Given the description of an element on the screen output the (x, y) to click on. 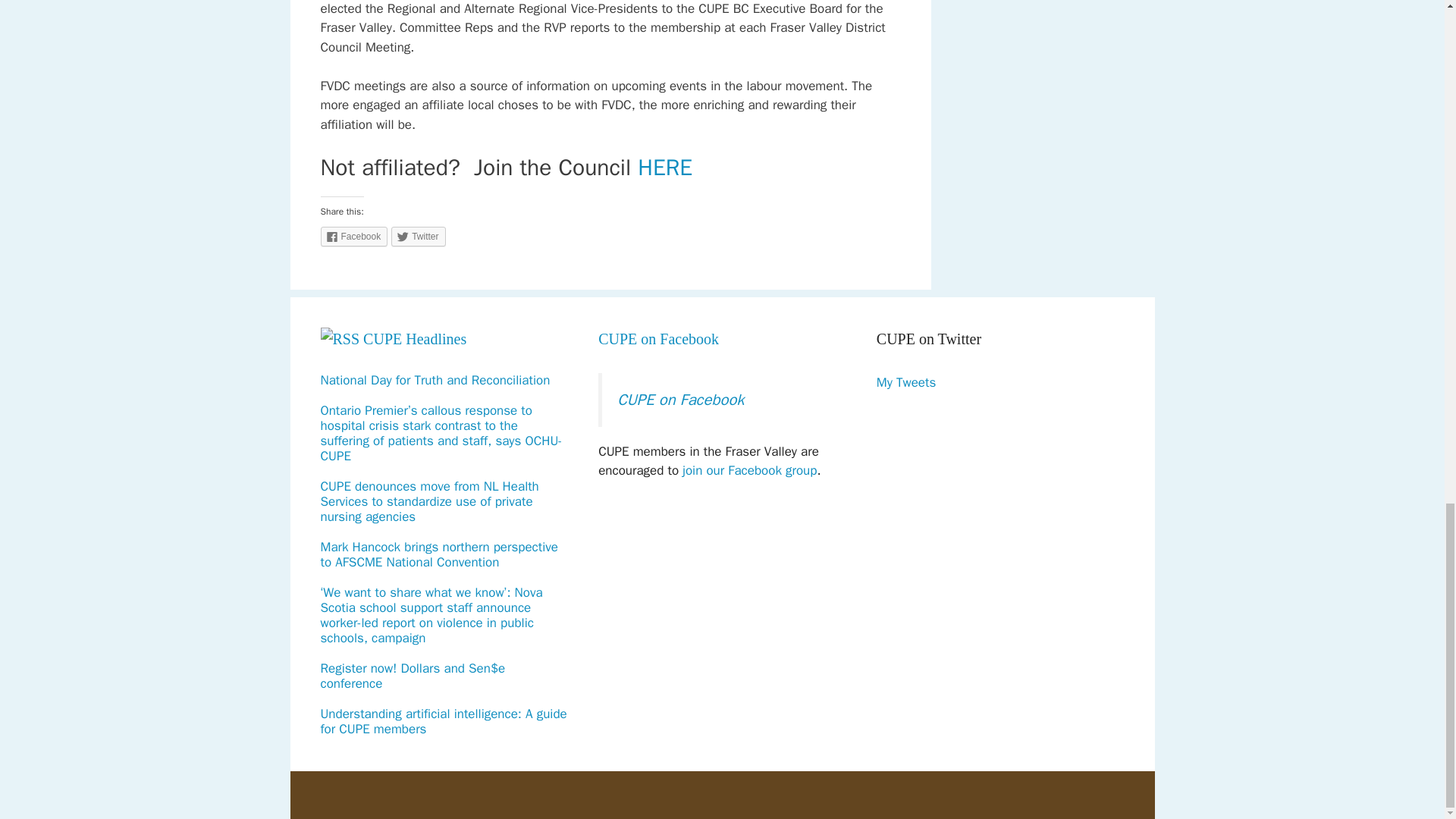
Click to share on Twitter (418, 236)
Click to share on Facebook (353, 236)
HERE (665, 167)
